Given the description of an element on the screen output the (x, y) to click on. 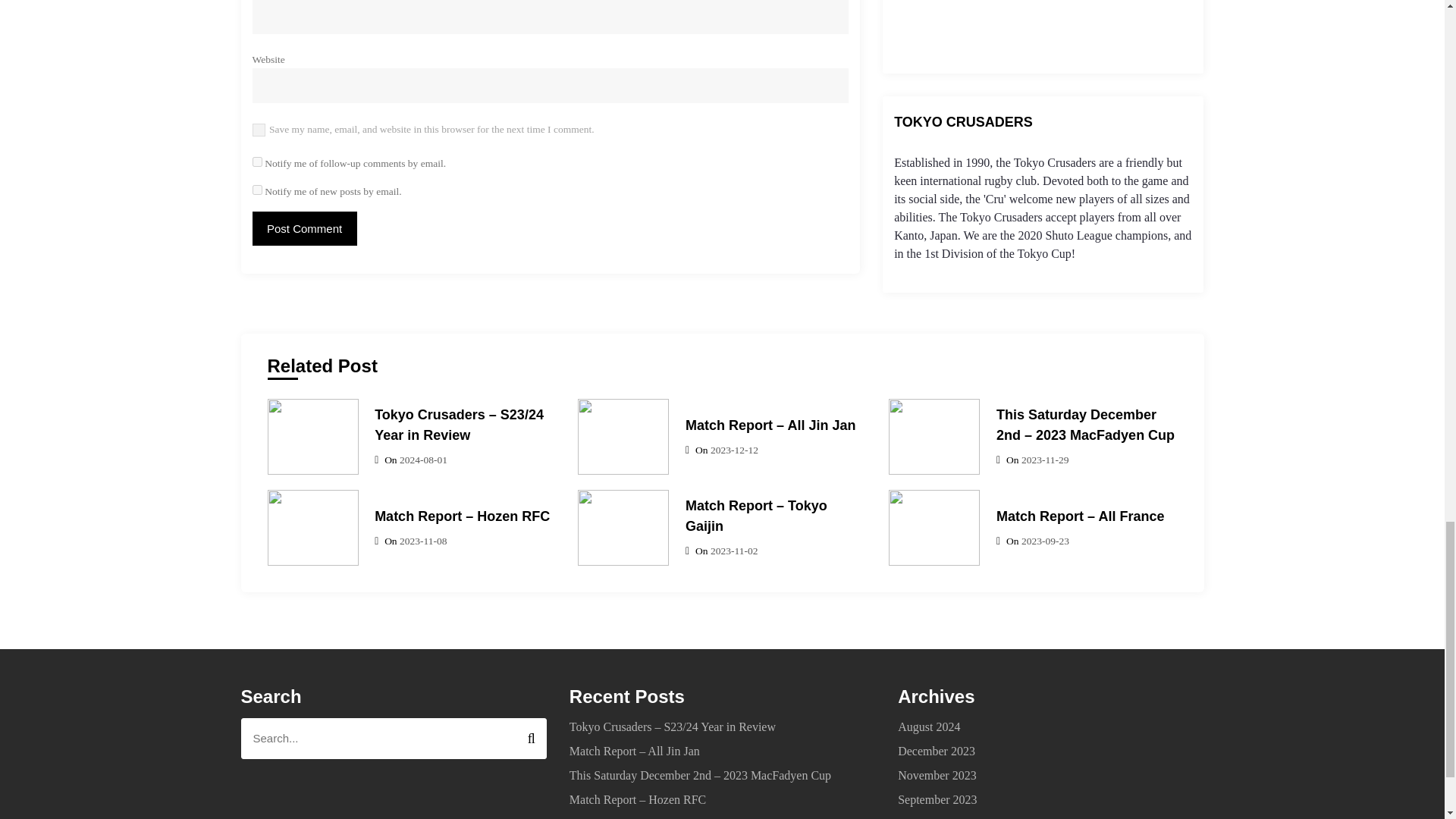
subscribe (256, 161)
subscribe (256, 189)
Post Comment (303, 227)
